Given the description of an element on the screen output the (x, y) to click on. 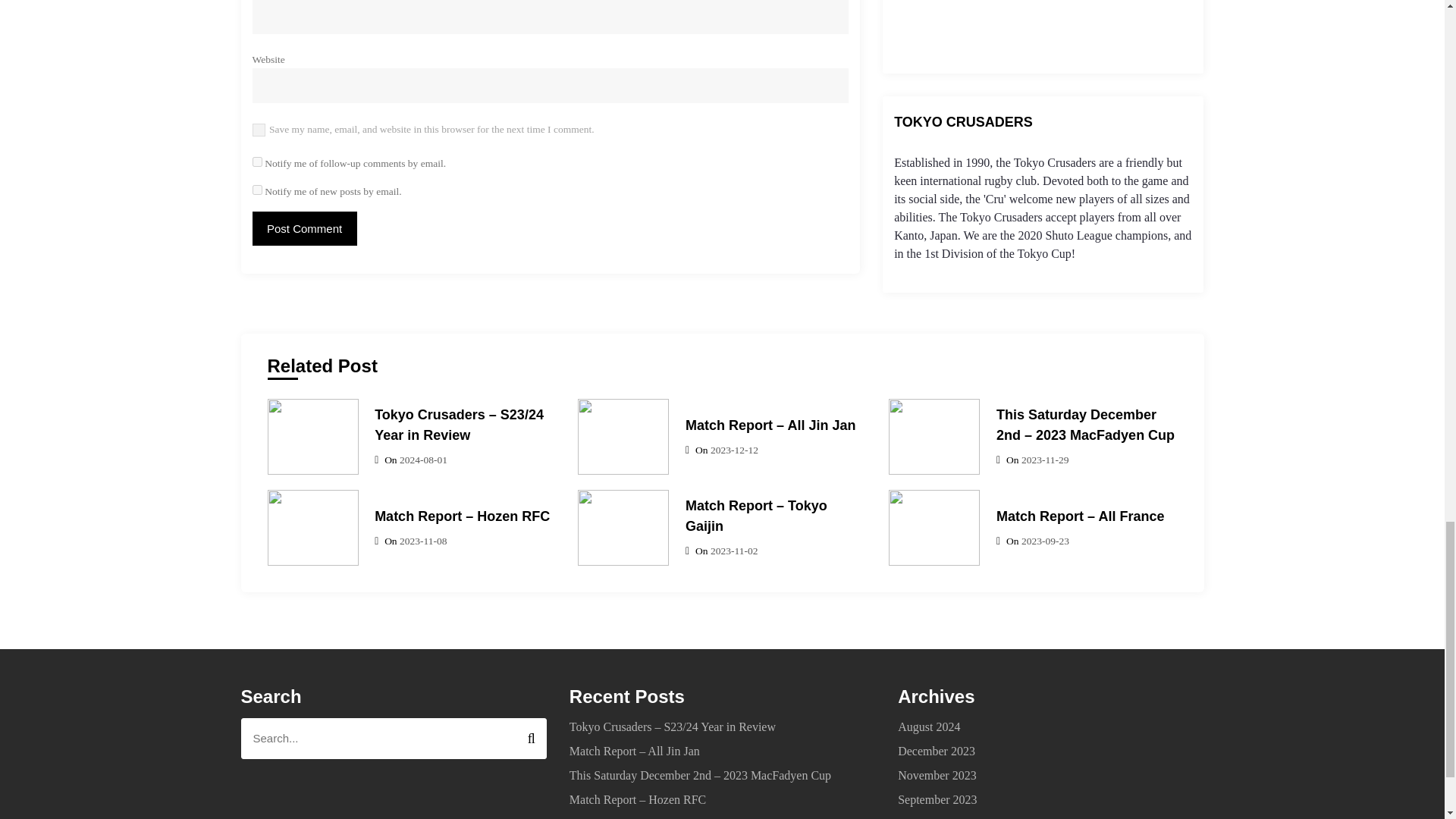
subscribe (256, 161)
subscribe (256, 189)
Post Comment (303, 227)
